Given the description of an element on the screen output the (x, y) to click on. 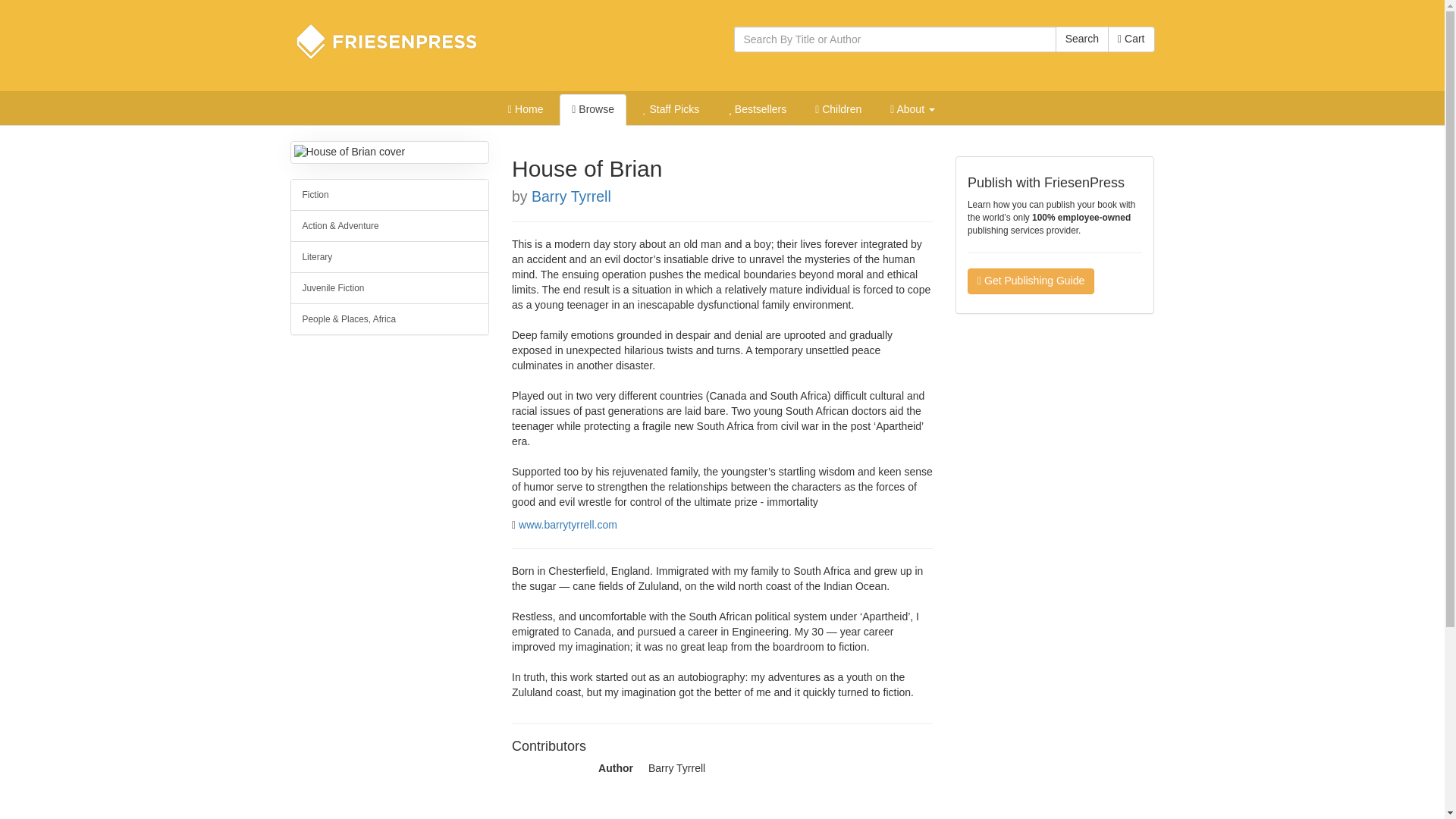
FriesenPress (395, 40)
www.barrytyrrell.com (567, 524)
Staff Picks (670, 110)
Search for books by Barry Tyrrell (571, 196)
Juvenile Fiction (390, 287)
Home (525, 110)
About (912, 110)
Literary (390, 256)
Browse (592, 110)
Barry Tyrrell (571, 196)
Children (838, 110)
Search (1081, 39)
Cart (1131, 39)
Get Publishing Guide (1031, 281)
House of Brian (390, 151)
